Given the description of an element on the screen output the (x, y) to click on. 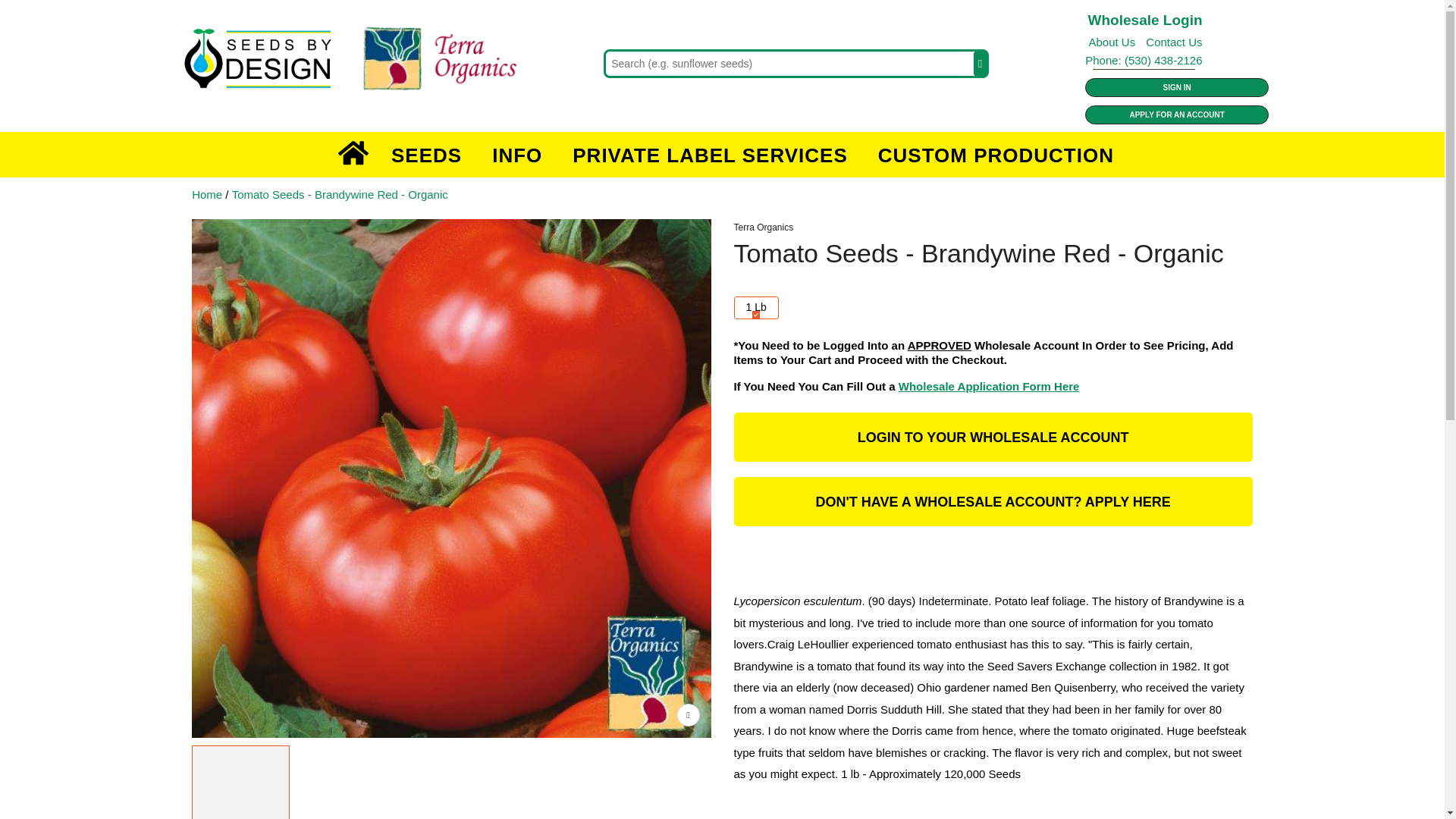
Seeds (426, 154)
Info (517, 154)
Private Label Services (709, 154)
INFO (517, 154)
PRIVATE LABEL SERVICES (709, 154)
Home (352, 155)
About Us (1111, 42)
Seeds By Design (368, 61)
SEEDS (426, 154)
SIGN IN (1176, 87)
